Given the description of an element on the screen output the (x, y) to click on. 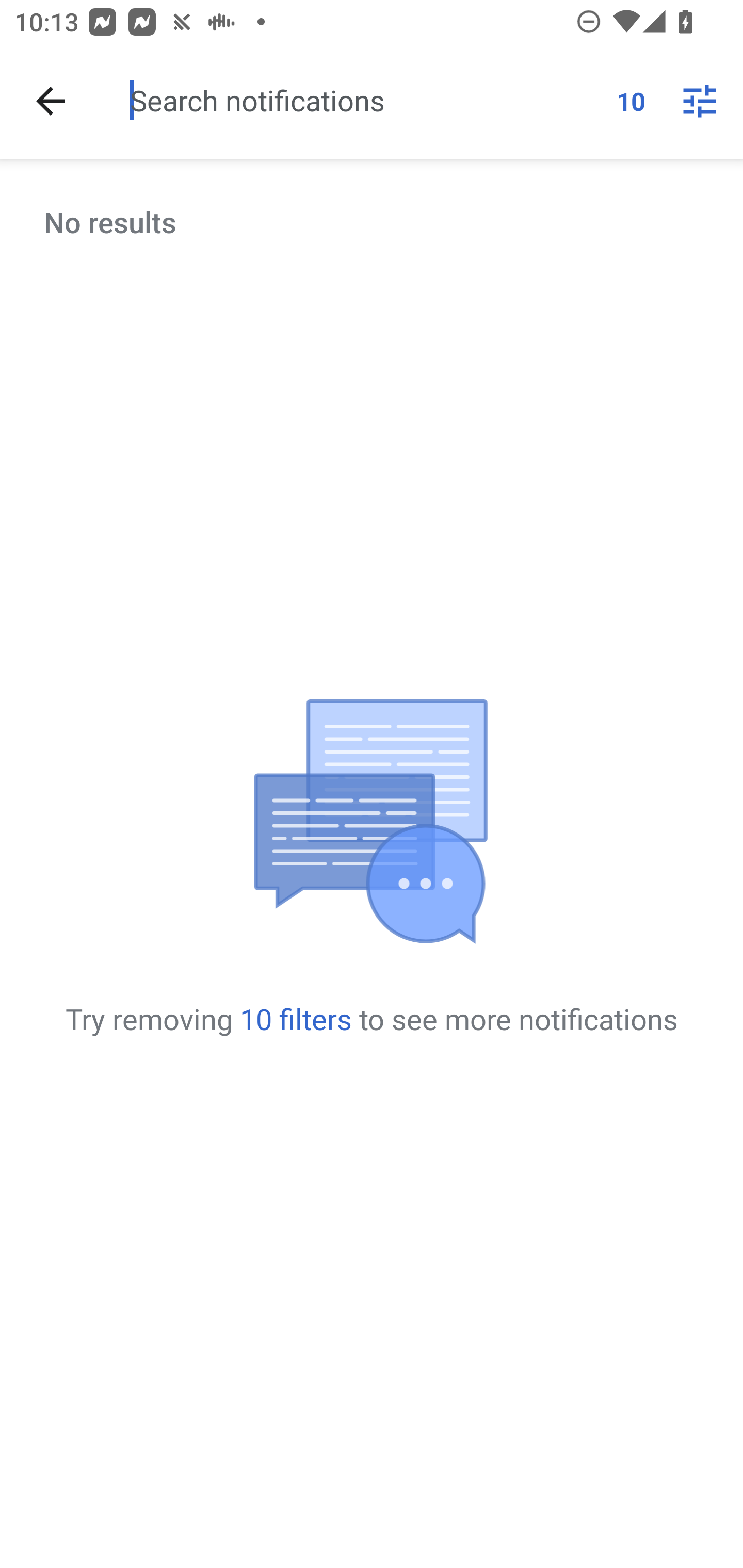
Done (50, 101)
Notification filter (699, 101)
Search notifications (365, 100)
